Given the description of an element on the screen output the (x, y) to click on. 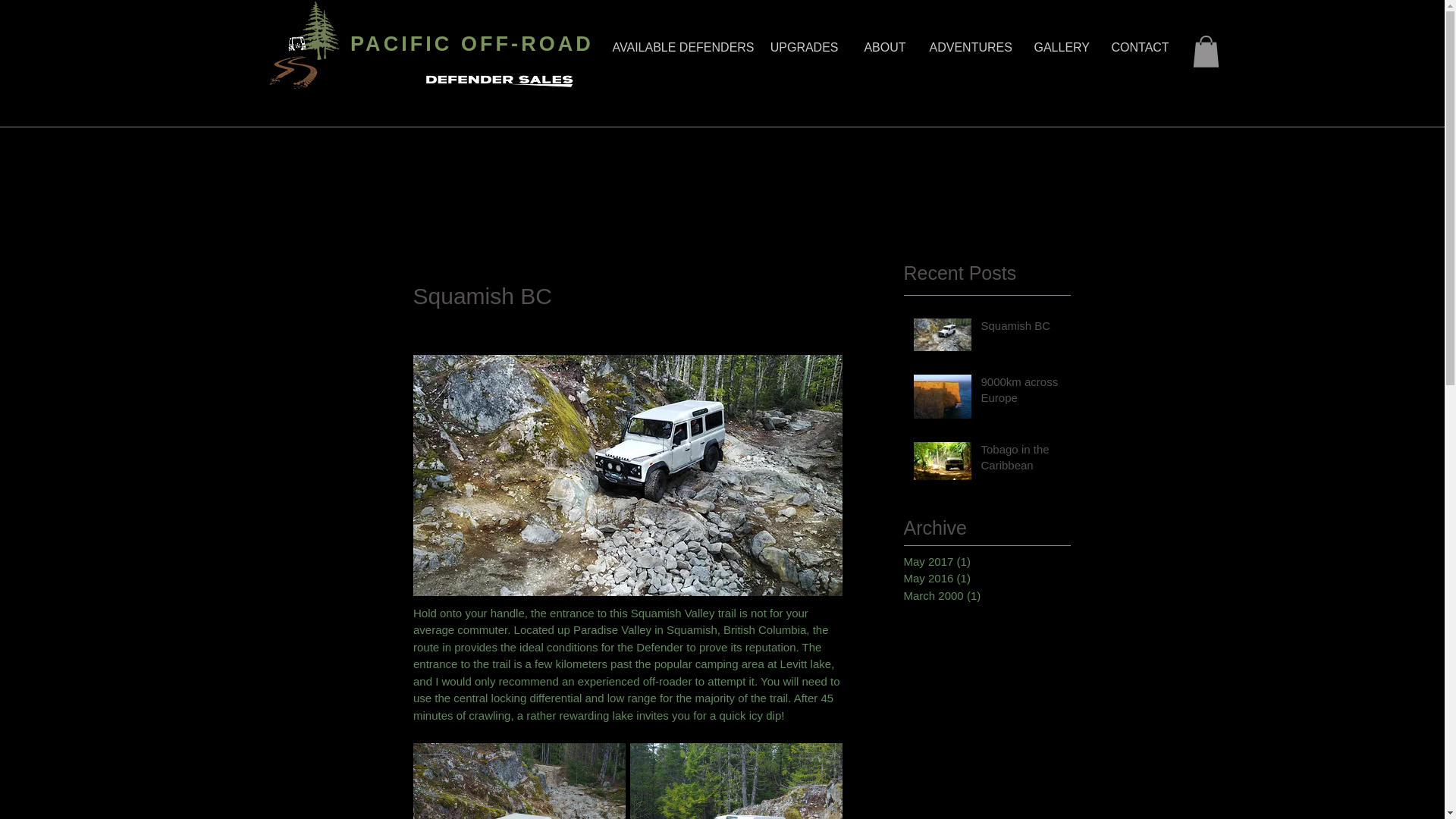
UPGRADES (803, 47)
CONTACT (1139, 47)
ADVENTURES (969, 47)
9000km across Europe (1023, 392)
Squamish BC (1023, 328)
Tobago in the Caribbean (1023, 460)
ABOUT (883, 47)
GALLERY (1060, 47)
AVAILABLE DEFENDERS (678, 47)
 PACIFIC OFF-ROAD (466, 43)
